Given the description of an element on the screen output the (x, y) to click on. 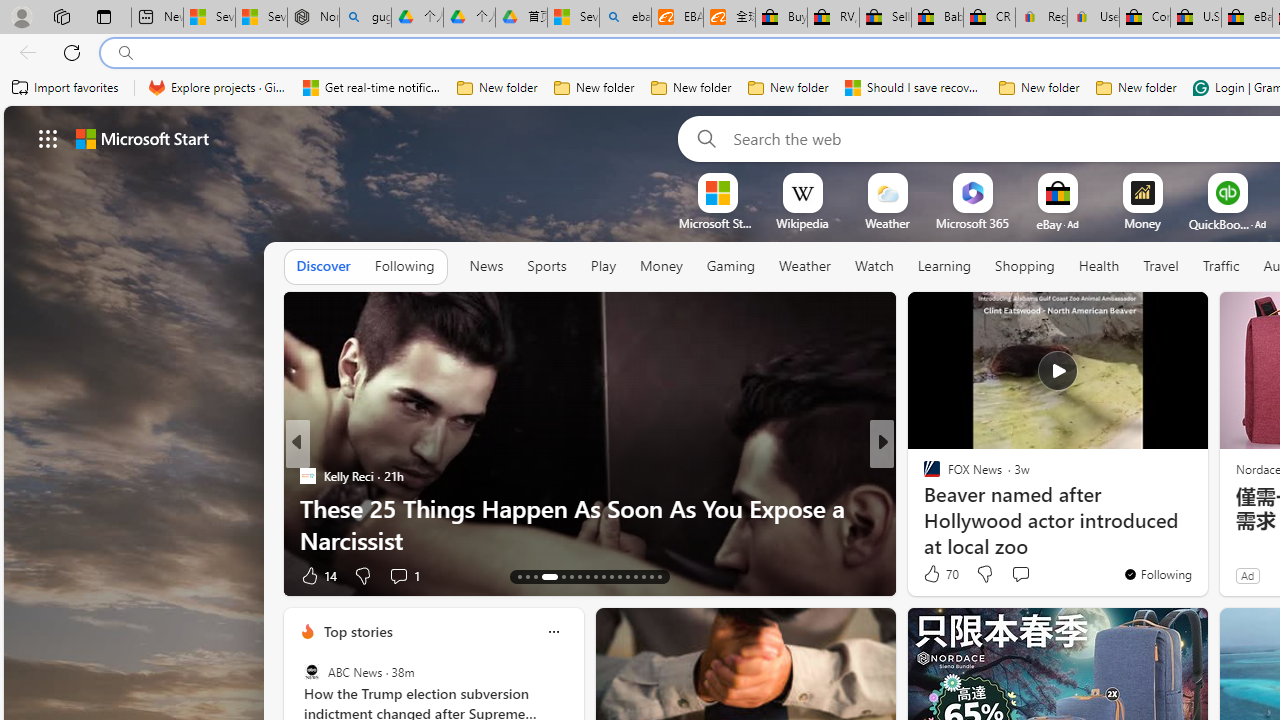
AutomationID: tab-18 (571, 576)
191 Like (936, 574)
View comments 167 Comment (1013, 575)
View comments 123 Comment (1025, 574)
AutomationID: tab-17 (563, 576)
2k Like (933, 574)
Register: Create a personal eBay account (1041, 17)
